Given the description of an element on the screen output the (x, y) to click on. 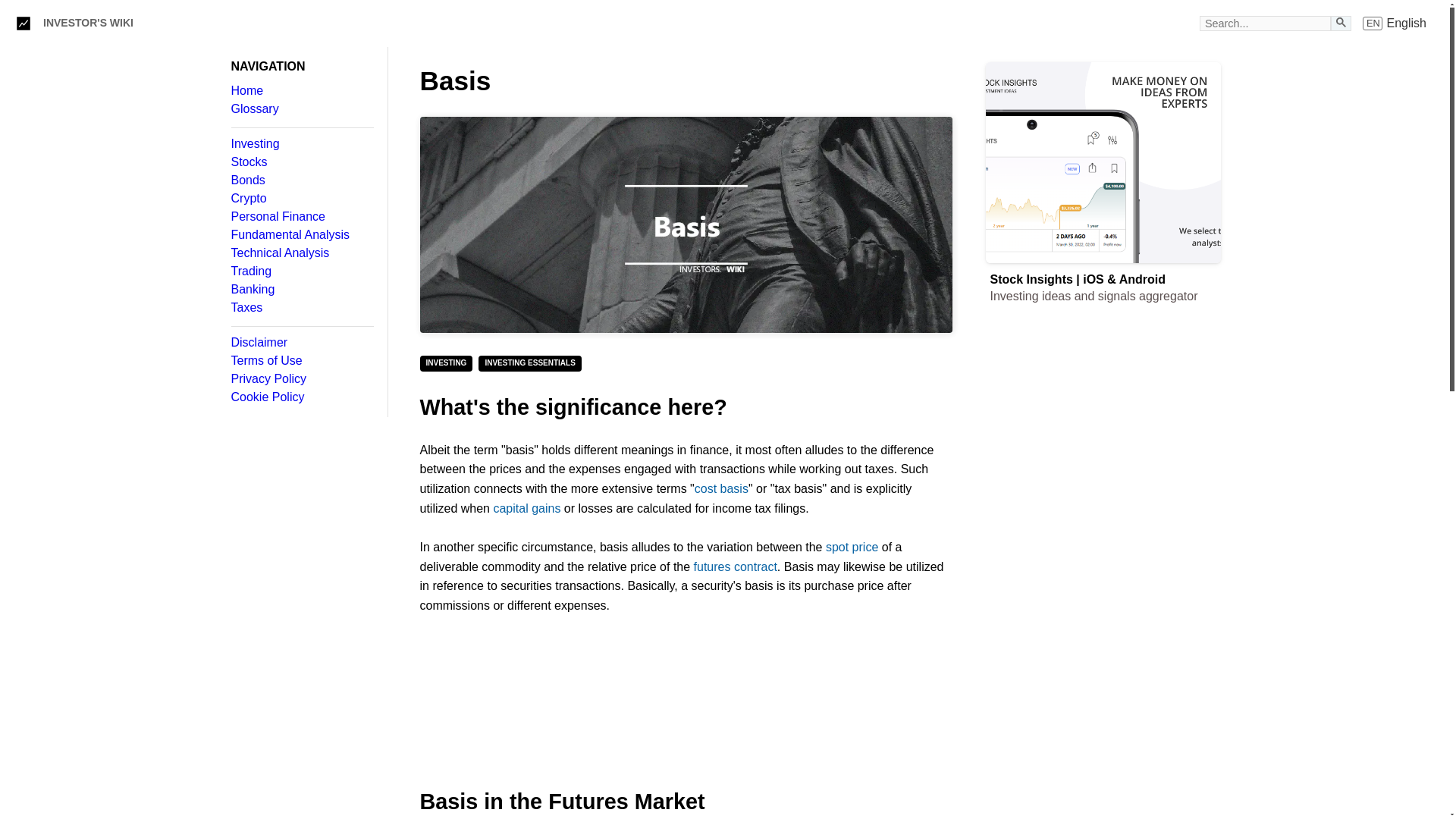
Taxes (301, 307)
Banking (301, 289)
Stocks (301, 162)
Technical Analysis (301, 253)
Personal Finance (301, 216)
Terms of Use (1394, 23)
Advertisement (301, 360)
Advertisement (686, 702)
Disclaimer (1103, 784)
Investing (301, 342)
Basis (301, 143)
Advertisement (686, 224)
Home (1103, 424)
Bonds (301, 91)
